Given the description of an element on the screen output the (x, y) to click on. 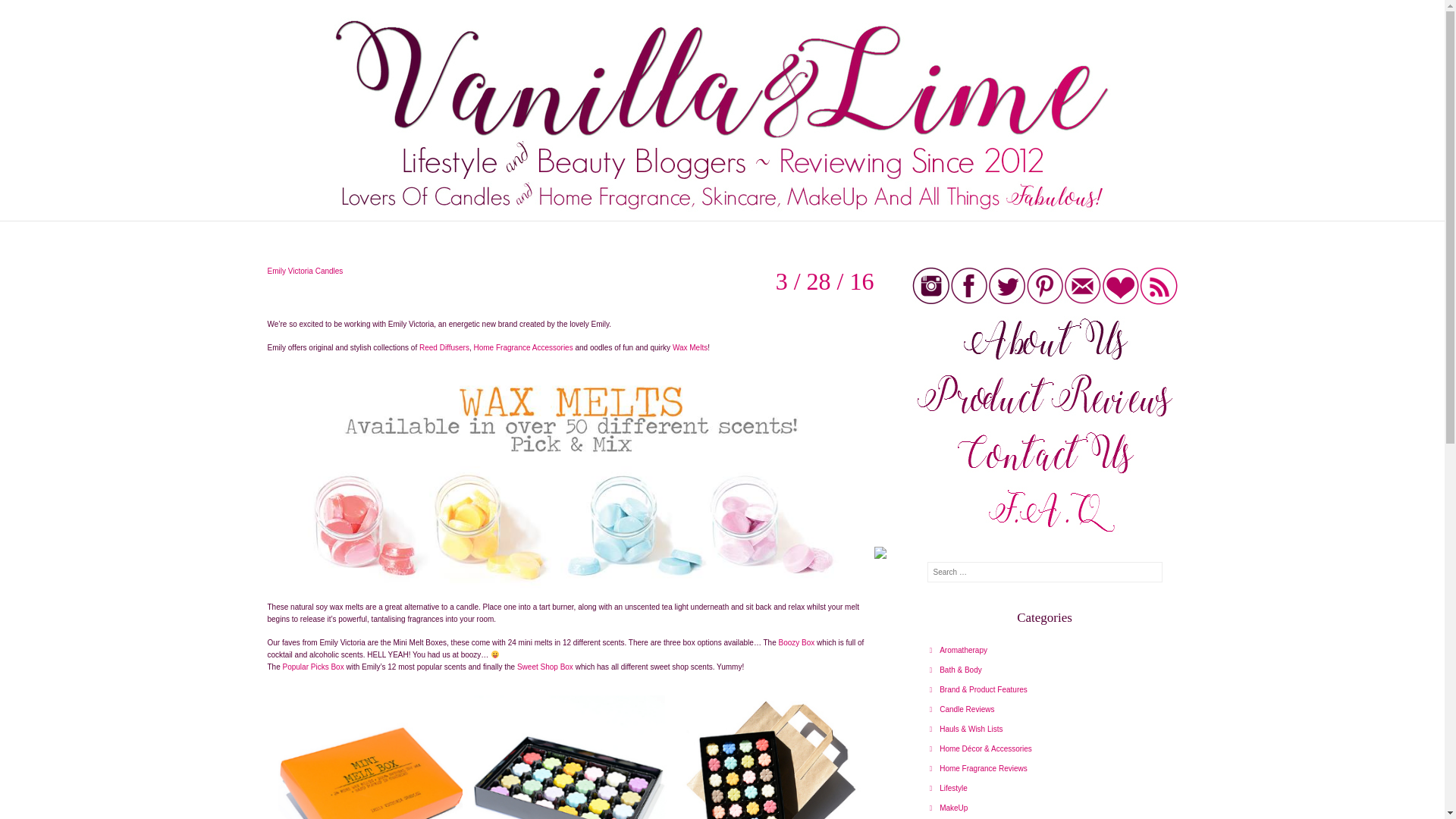
Popular Picks Box (314, 666)
Wax Melts (689, 347)
Boozy Box (795, 642)
Sweet Shop Box (544, 666)
Reed Diffusers (443, 347)
skip to content (260, 229)
Home Fragrance Accessories (522, 347)
